Given the description of an element on the screen output the (x, y) to click on. 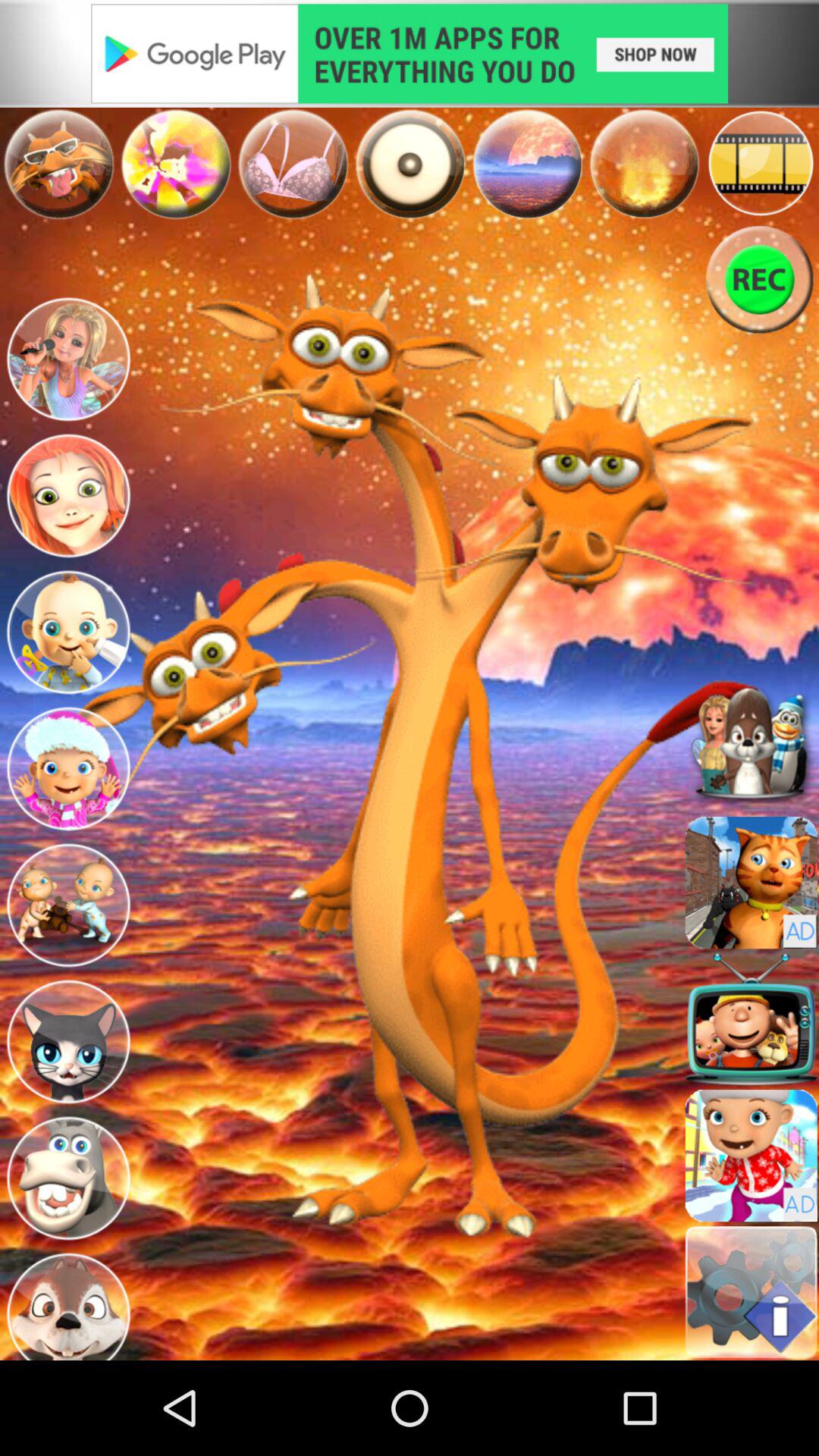
go to character (751, 882)
